Given the description of an element on the screen output the (x, y) to click on. 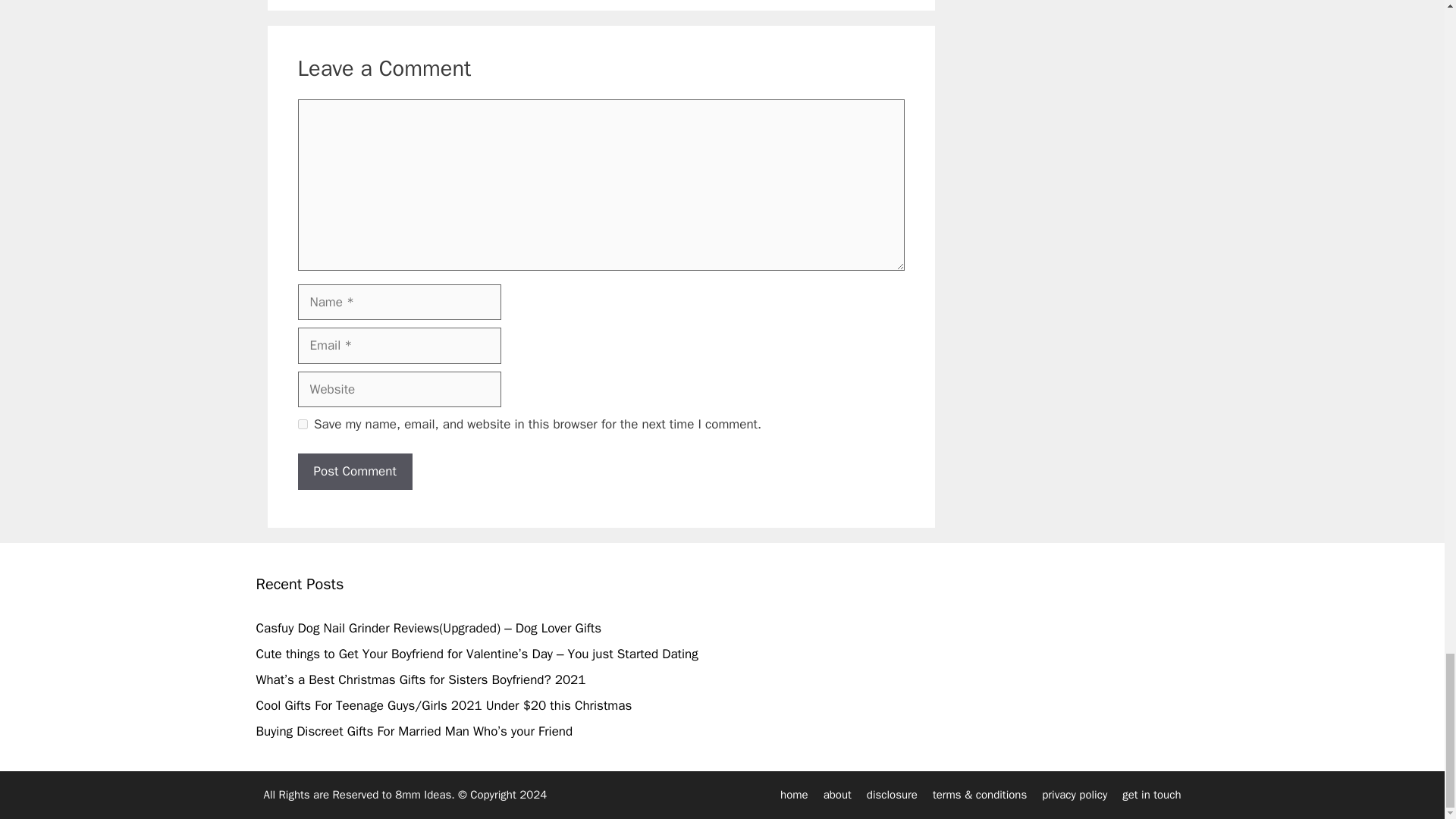
Post Comment (354, 471)
yes (302, 424)
Post Comment (354, 471)
